Given the description of an element on the screen output the (x, y) to click on. 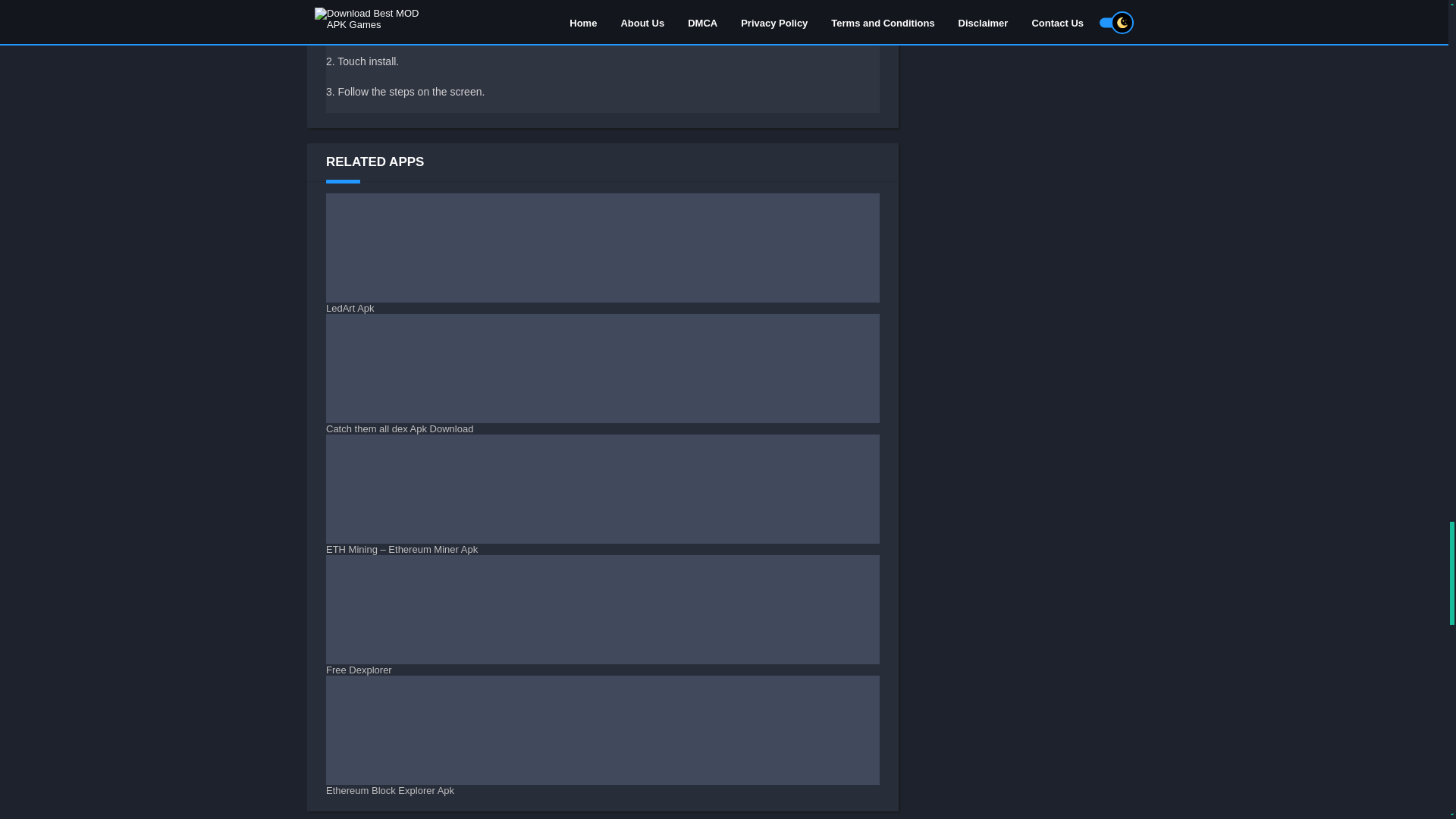
LedArt Apk (602, 253)
Free Dexplorer (602, 615)
Ethereum Block Explorer Apk (602, 735)
Catch them all dex Apk Download (602, 373)
LedArt Apk (602, 253)
Ethereum Block Explorer Apk (602, 735)
Catch them all dex Apk Download (602, 373)
Free Dexplorer (602, 615)
